Given the description of an element on the screen output the (x, y) to click on. 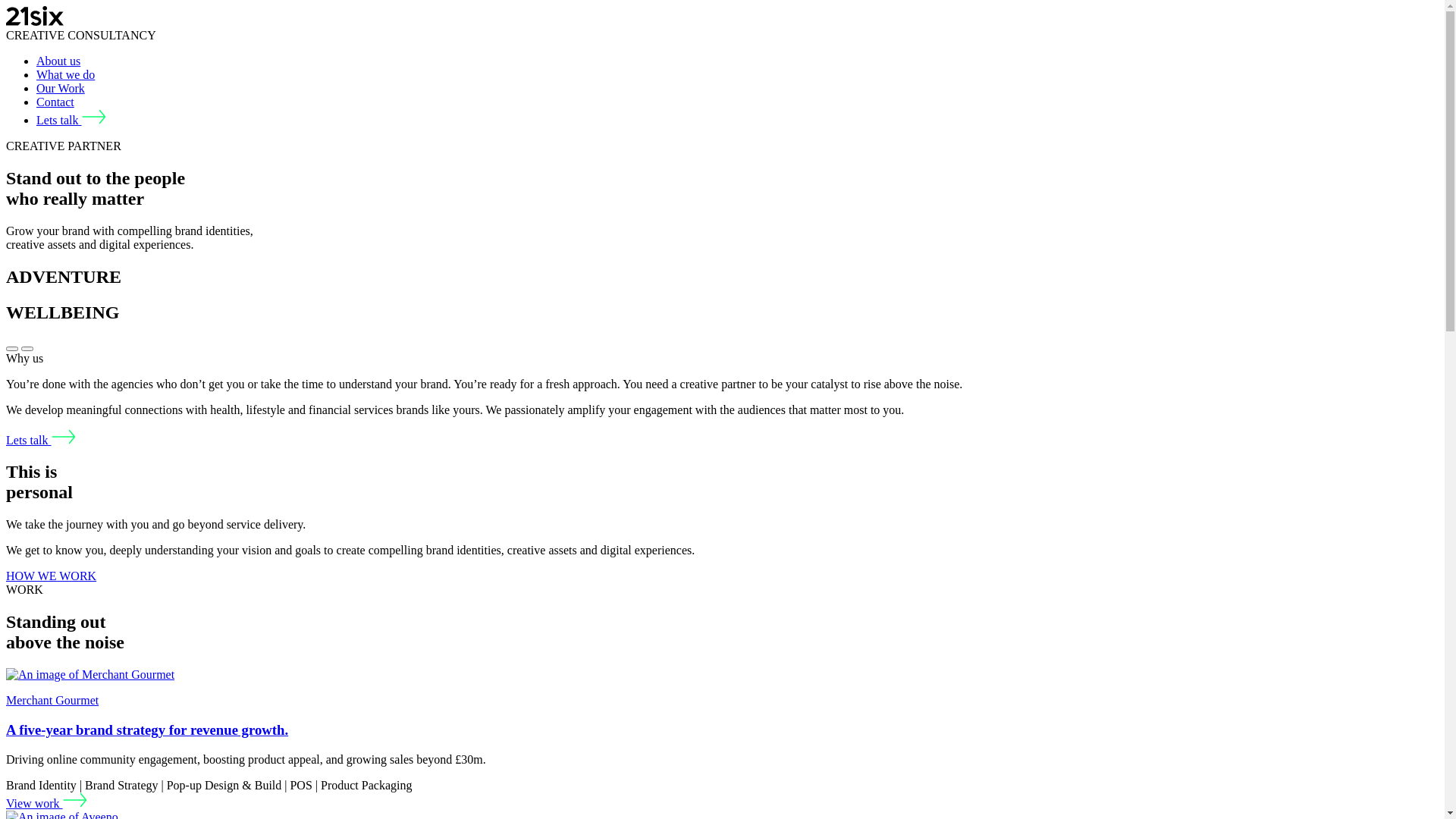
Lets talk Element type: text (71, 119)
A five-year brand strategy for revenue growth. Element type: text (147, 729)
HOW WE WORK Element type: text (51, 575)
View work Element type: text (46, 803)
Merchant Gourmet Element type: hover (90, 674)
Merchant Gourmet Element type: text (52, 699)
What we do Element type: text (65, 74)
Our Work Element type: text (60, 87)
Lets talk Element type: text (40, 439)
About us Element type: text (58, 60)
Contact Element type: text (55, 101)
